Given the description of an element on the screen output the (x, y) to click on. 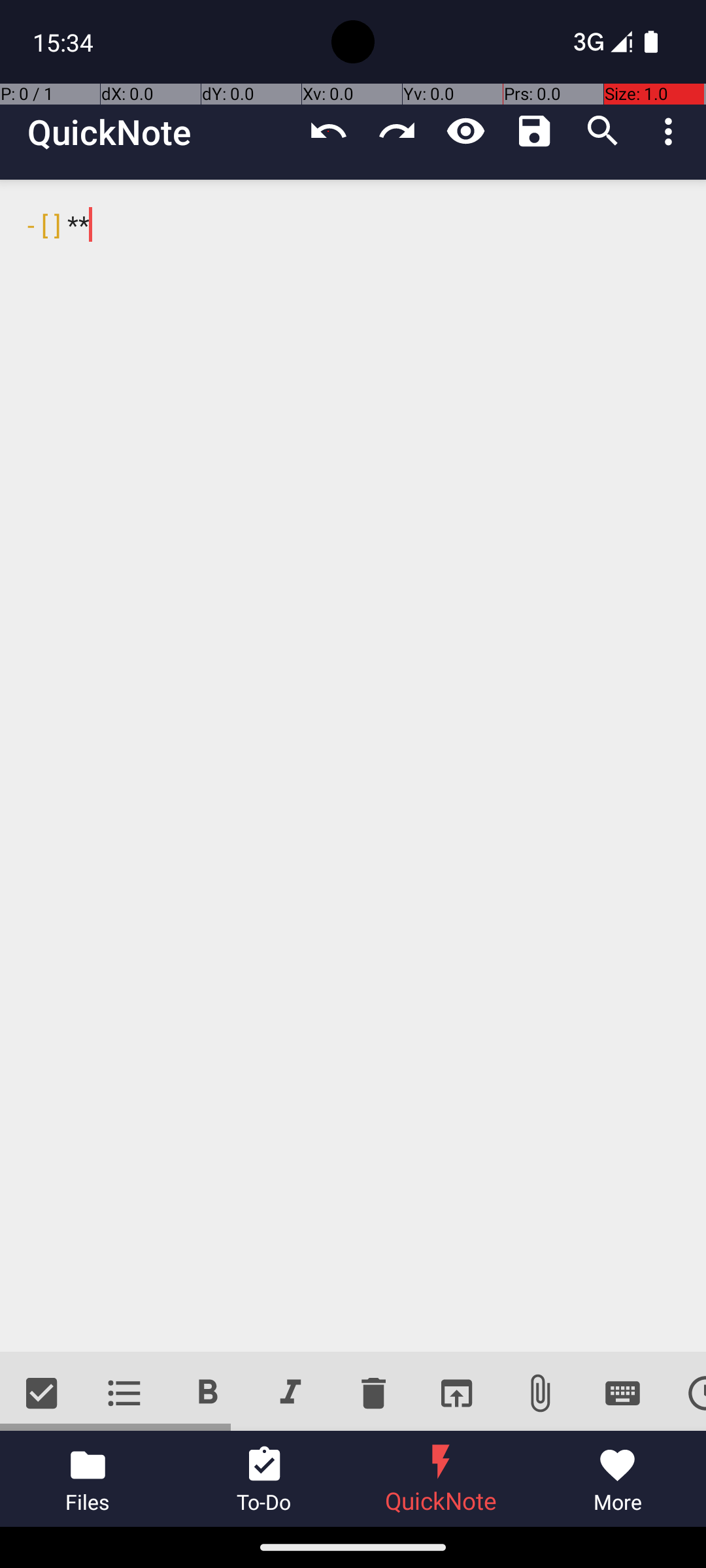
- [ ] ** Element type: android.widget.EditText (353, 765)
